Given the description of an element on the screen output the (x, y) to click on. 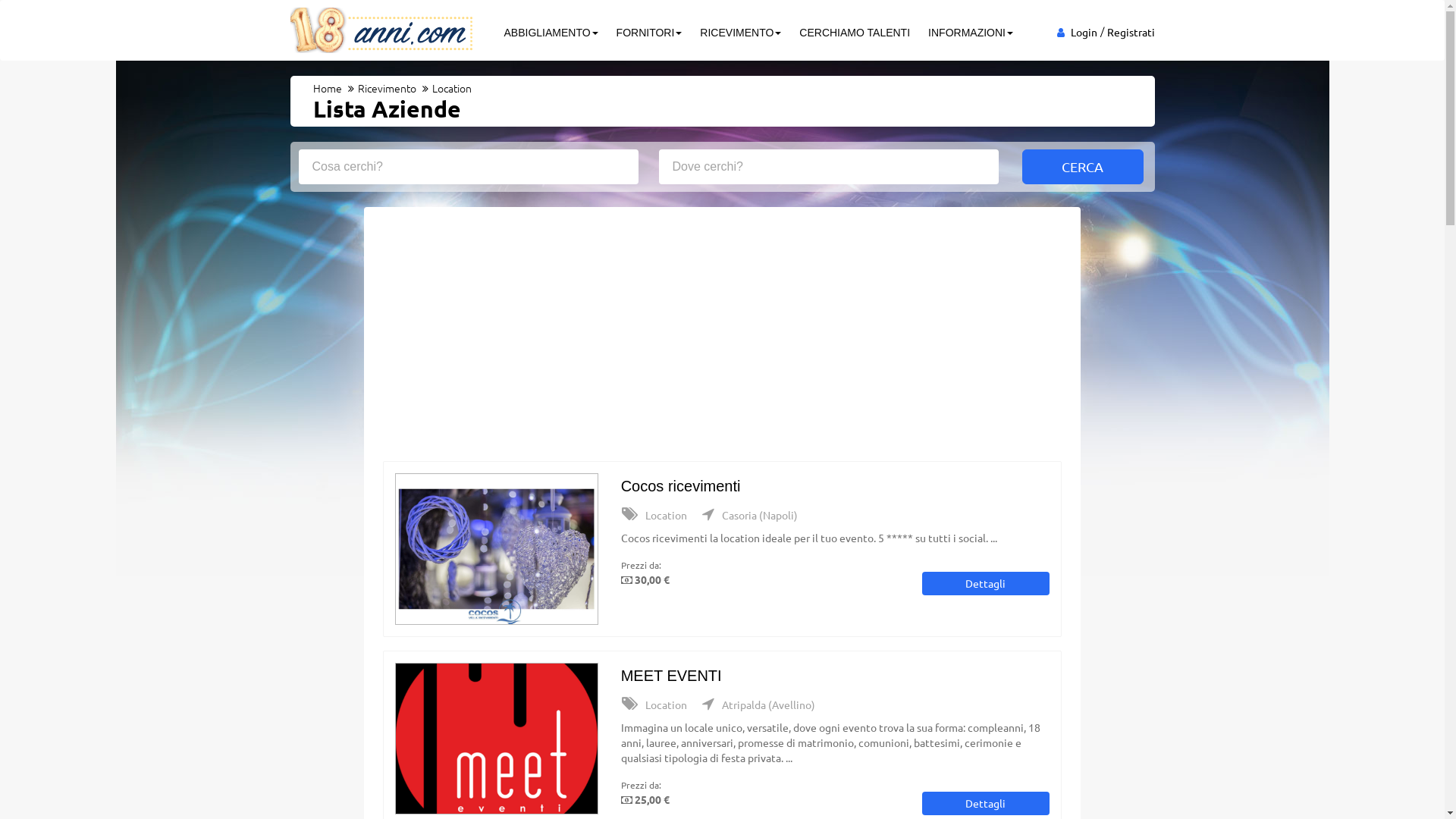
ABBIGLIAMENTO Element type: text (550, 32)
INFORMAZIONI Element type: text (970, 32)
Location Element type: text (654, 514)
Login Element type: text (1083, 31)
Location Element type: text (654, 704)
MEET EVENTI Element type: text (671, 675)
Dettagli Element type: text (985, 803)
Atripalda (Avellino) Element type: text (758, 704)
FORNITORI Element type: text (649, 32)
Cocos ricevimenti Element type: text (680, 485)
Registrati Element type: text (1130, 31)
RICEVIMENTO Element type: text (740, 32)
CERCHIAMO TALENTI Element type: text (854, 32)
Home Element type: text (326, 87)
CERCA Element type: text (1082, 166)
Dettagli Element type: text (985, 583)
Advertisement Element type: hover (721, 339)
Casoria (Napoli) Element type: text (749, 514)
